Given the description of an element on the screen output the (x, y) to click on. 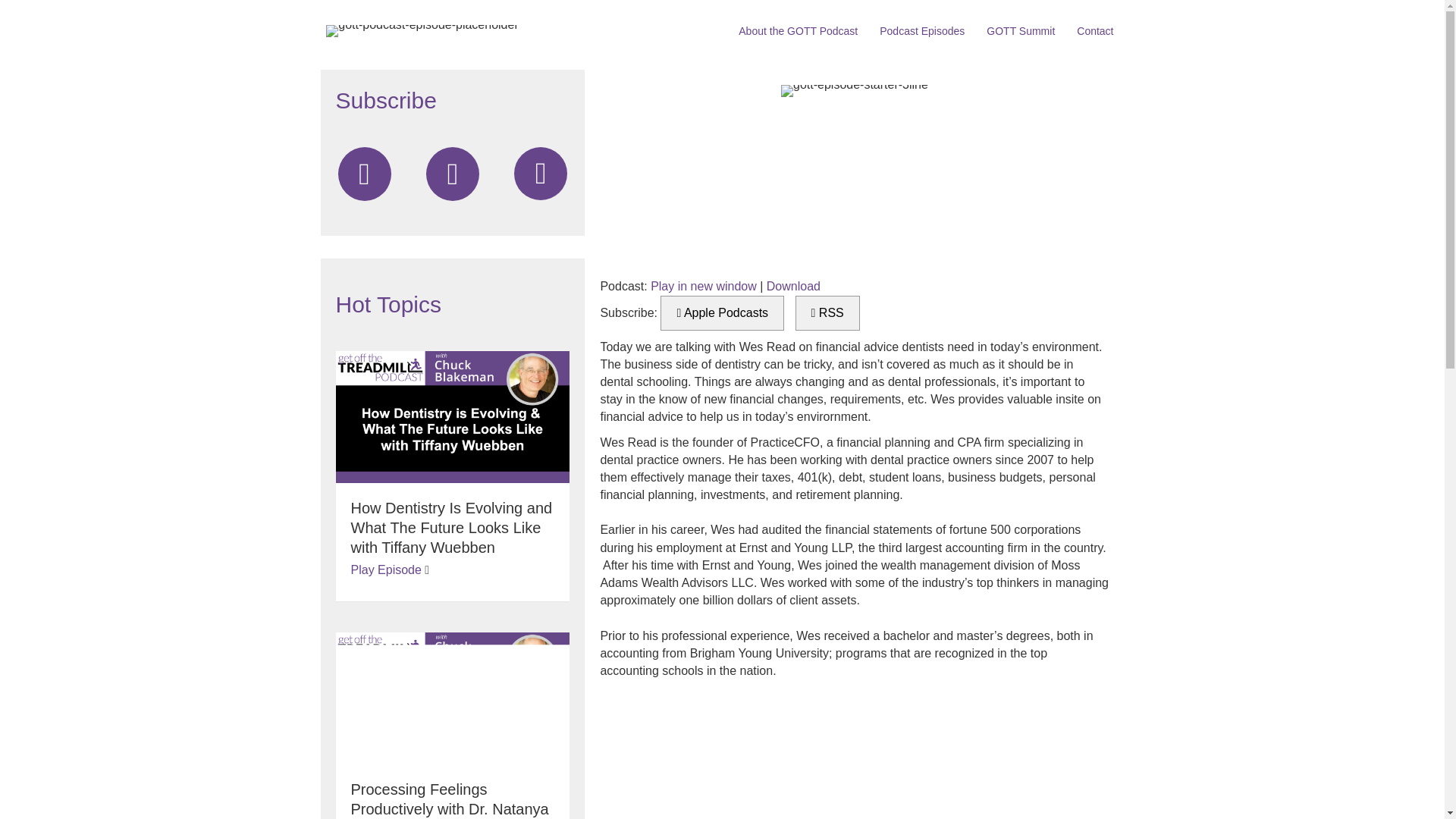
Processing Feelings Productively with Dr. Natanya Brown (451, 697)
gott-podcast-episode-placeholder (422, 30)
RSS (827, 312)
GOTT Summit (1020, 30)
Apple Podcasts (722, 312)
Podcast Episodes (922, 30)
Play Episode (385, 569)
Play in new window (703, 286)
Download (794, 286)
About the GOTT Podcast (797, 30)
Processing Feelings Productively with Dr. Natanya Brown (449, 800)
Play Episode (385, 569)
